Given the description of an element on the screen output the (x, y) to click on. 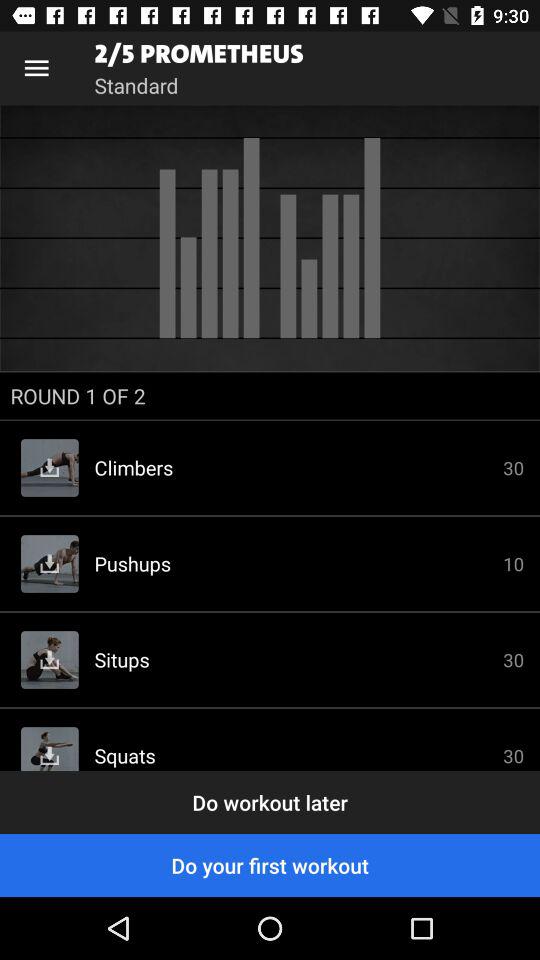
scroll to round 1 of icon (270, 395)
